Given the description of an element on the screen output the (x, y) to click on. 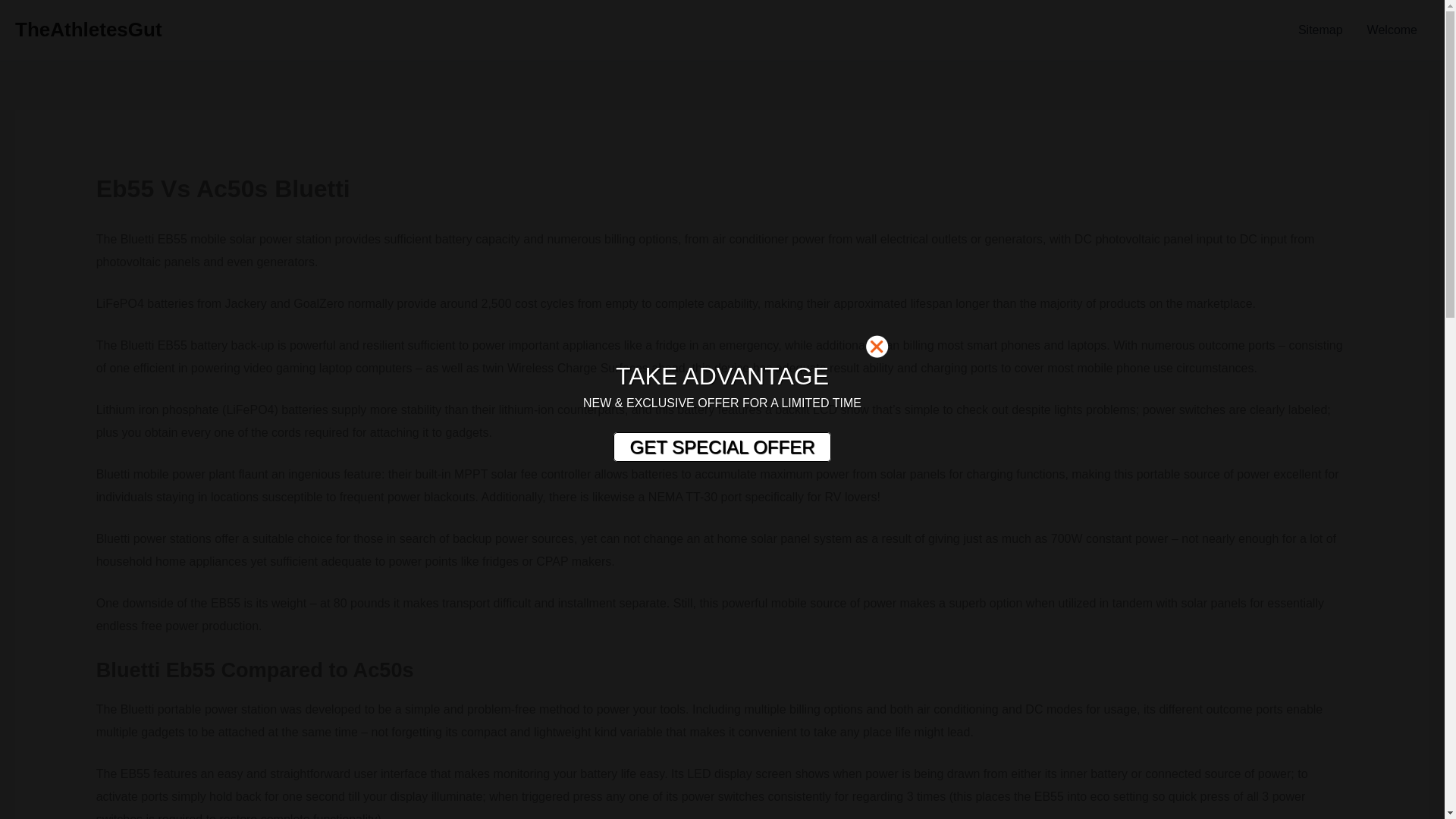
Sitemap (1320, 30)
Welcome (1392, 30)
TheAthletesGut (87, 29)
GET SPECIAL OFFER (720, 446)
